Given the description of an element on the screen output the (x, y) to click on. 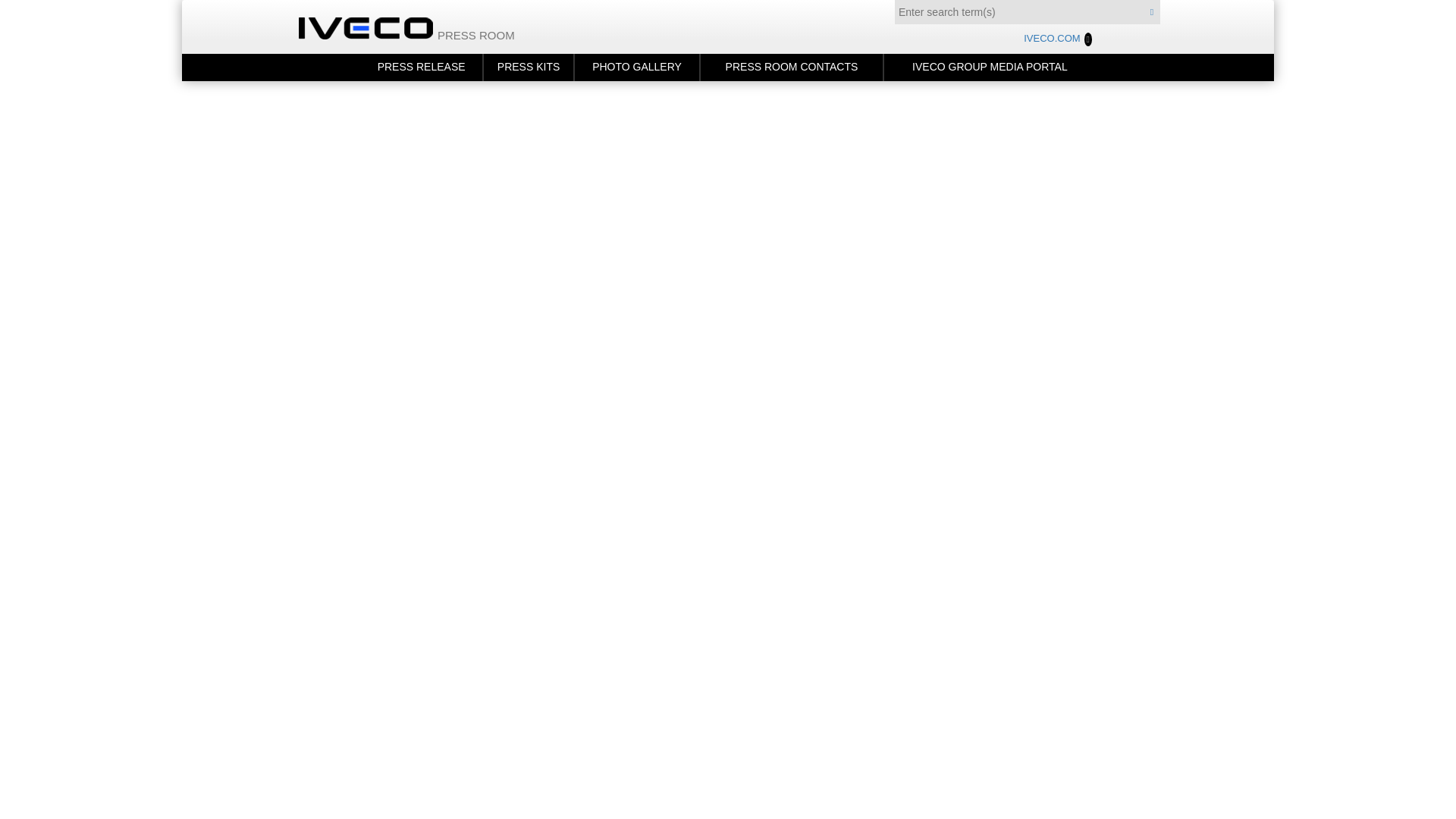
IVECO.COM (1056, 39)
PRESS KITS (528, 67)
Iveco (374, 26)
Press Kits (528, 67)
Press release Iveco (420, 67)
PRESS RELEASE (420, 67)
